Given the description of an element on the screen output the (x, y) to click on. 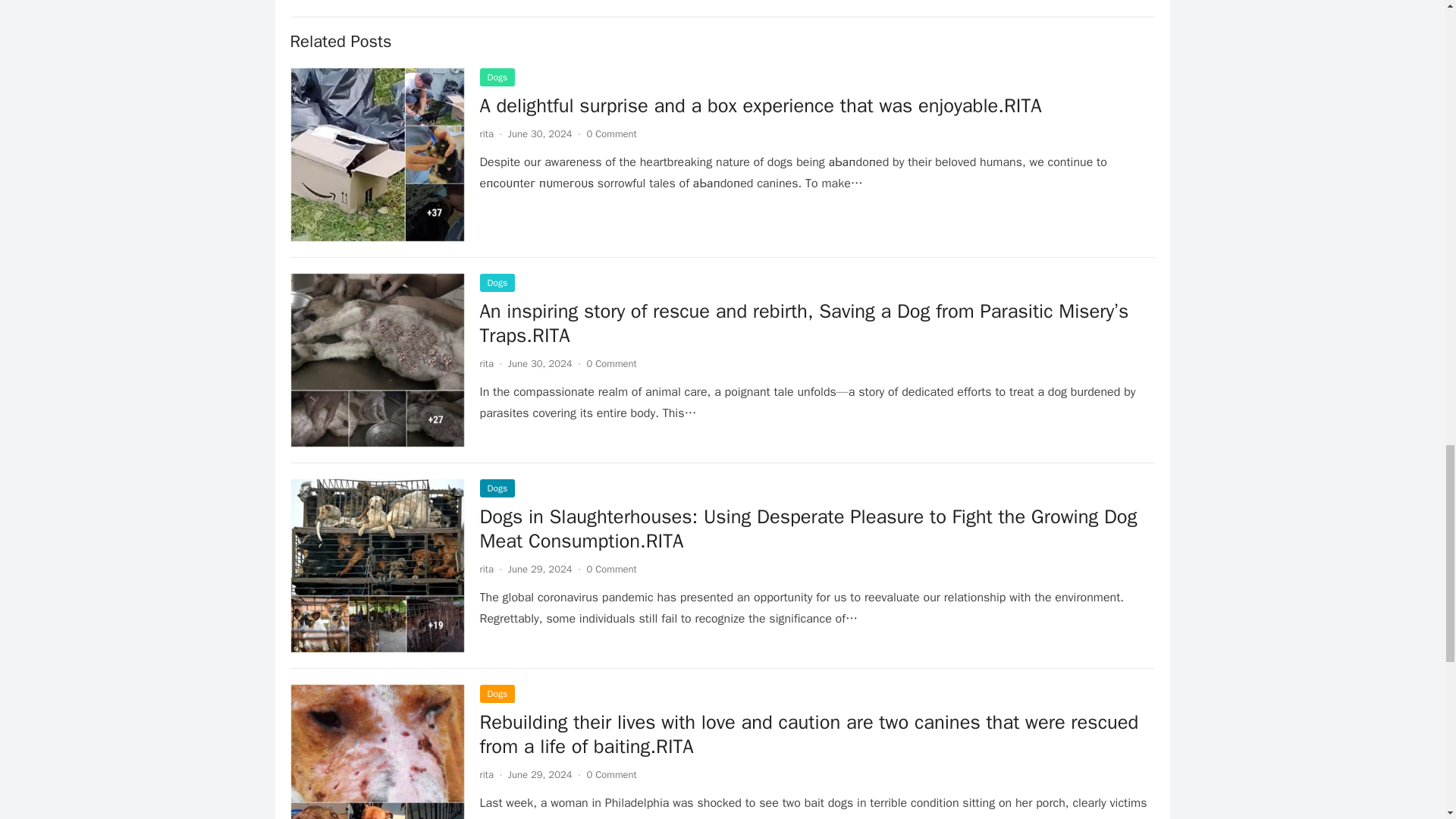
Dogs (497, 76)
Dogs (497, 282)
Dogs (497, 488)
rita (486, 568)
Posts by rita (486, 133)
rita (486, 363)
rita (486, 133)
0 Comment (611, 363)
Posts by rita (486, 774)
0 Comment (611, 133)
0 Comment (611, 568)
Posts by rita (486, 363)
Posts by rita (486, 568)
